Given the description of an element on the screen output the (x, y) to click on. 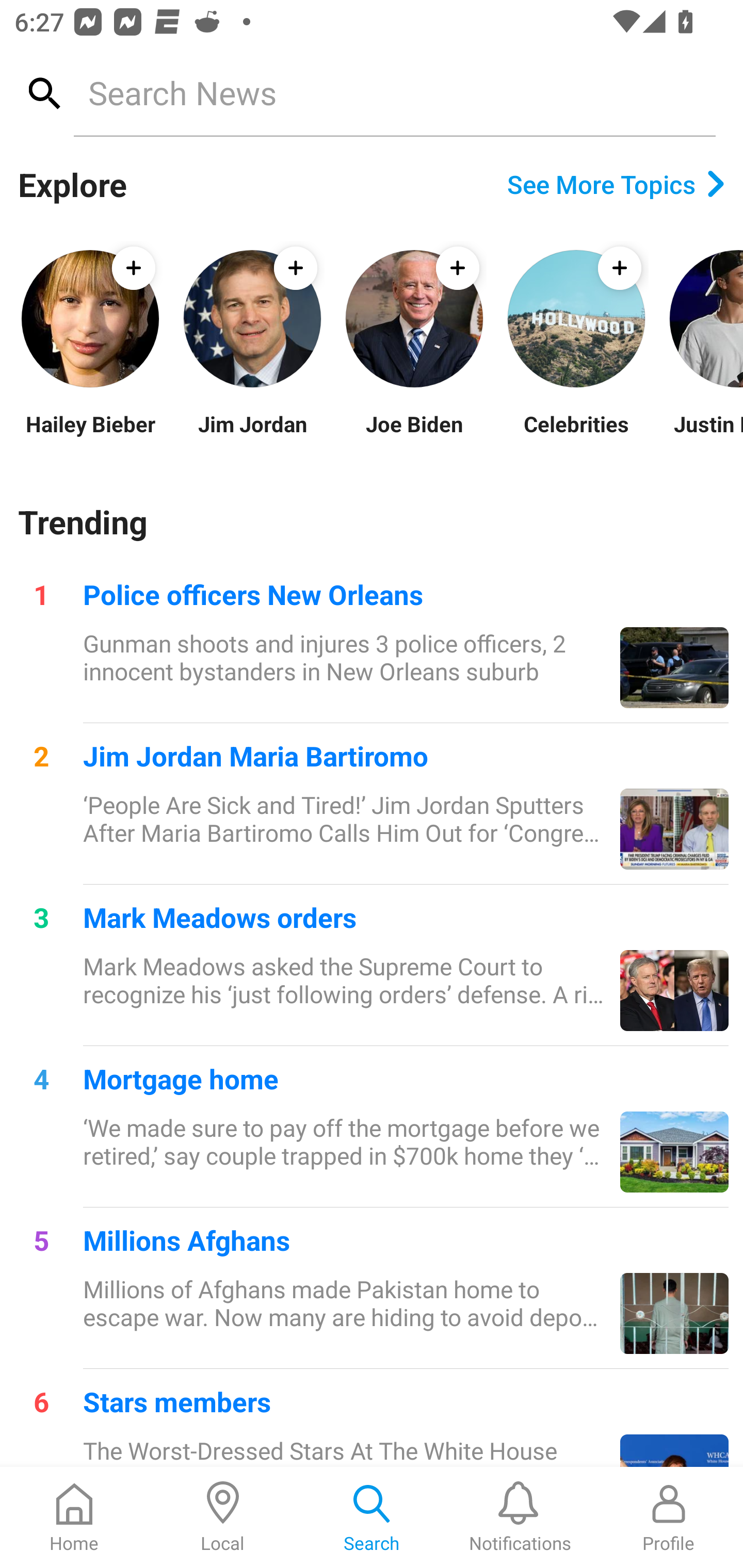
Search News (394, 92)
See More Topics (616, 183)
Hailey Bieber (89, 436)
Jim Jordan (251, 436)
Joe Biden (413, 436)
Celebrities (575, 436)
Justin Bieber (704, 436)
Home (74, 1517)
Local (222, 1517)
Notifications (519, 1517)
Profile (668, 1517)
